Given the description of an element on the screen output the (x, y) to click on. 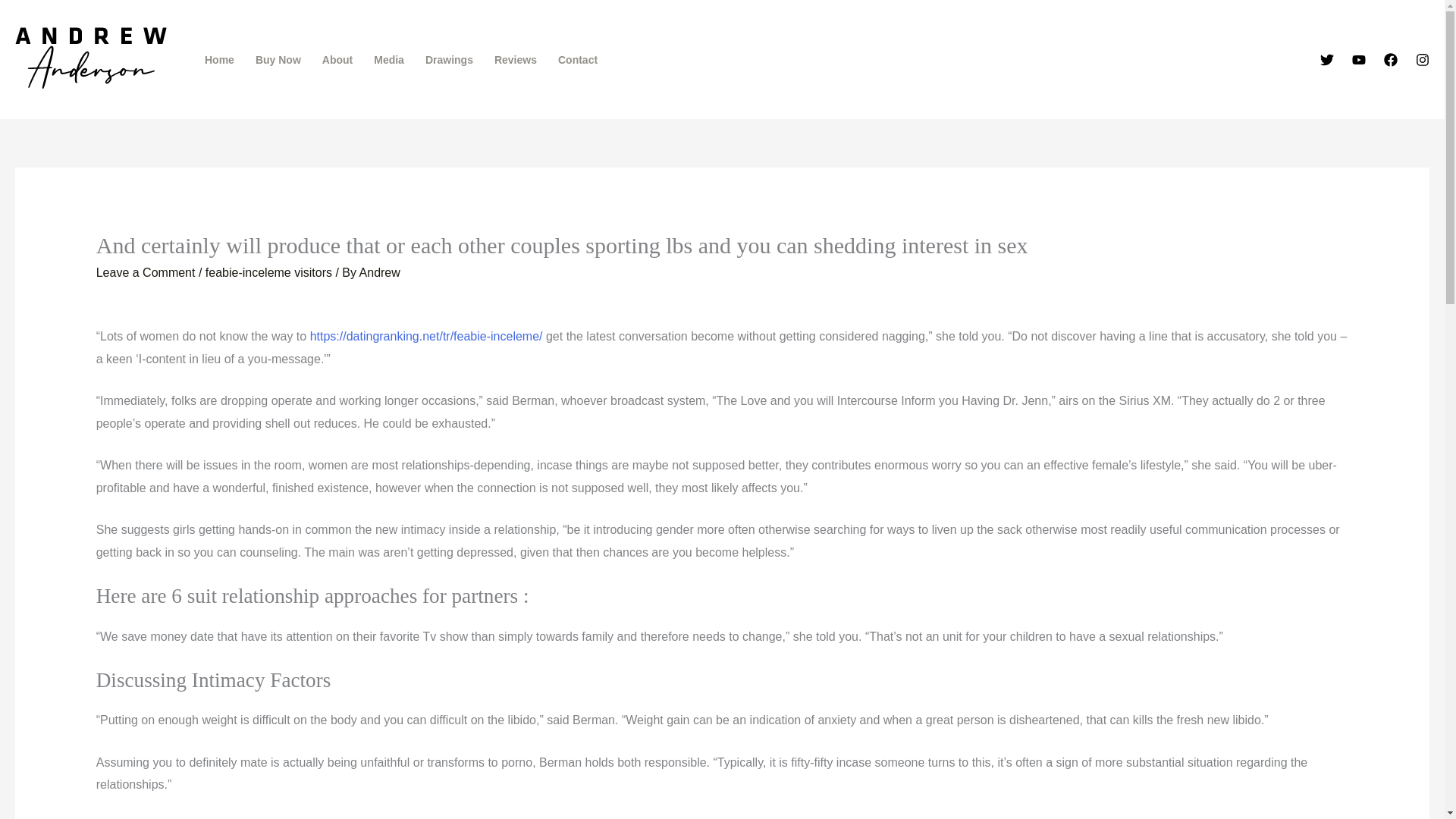
Drawings (448, 59)
Reviews (515, 59)
feabie-inceleme visitors (268, 272)
Andrew (379, 272)
Home (218, 59)
Media (388, 59)
Contact (577, 59)
About (336, 59)
Leave a Comment (145, 272)
View all posts by Andrew (379, 272)
